Given the description of an element on the screen output the (x, y) to click on. 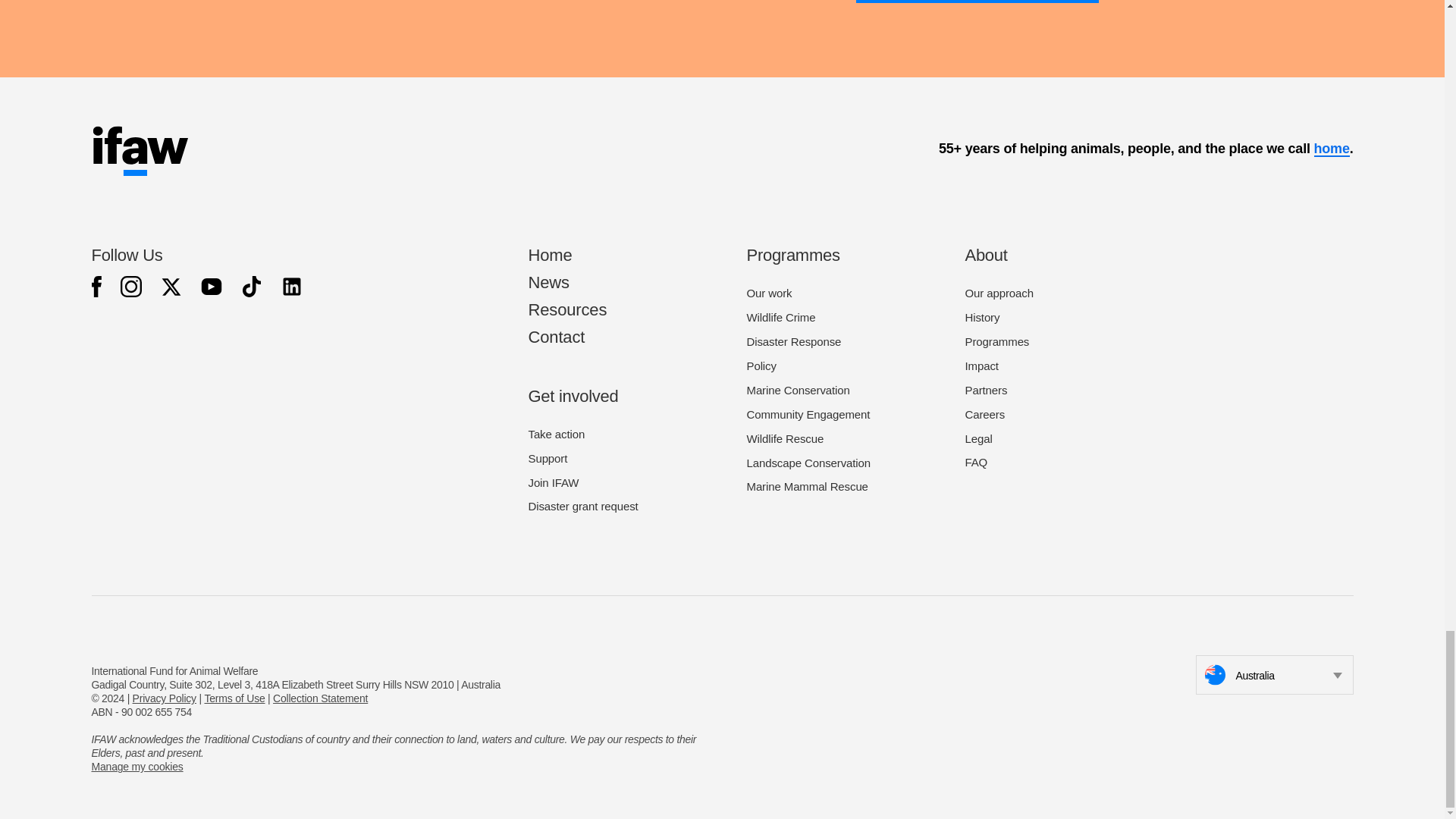
give to solve (976, 1)
Resources (567, 309)
Join IFAW (552, 481)
Take action (556, 433)
News (548, 281)
Contact (556, 336)
Support (547, 458)
Disaster grant request (582, 505)
